Given the description of an element on the screen output the (x, y) to click on. 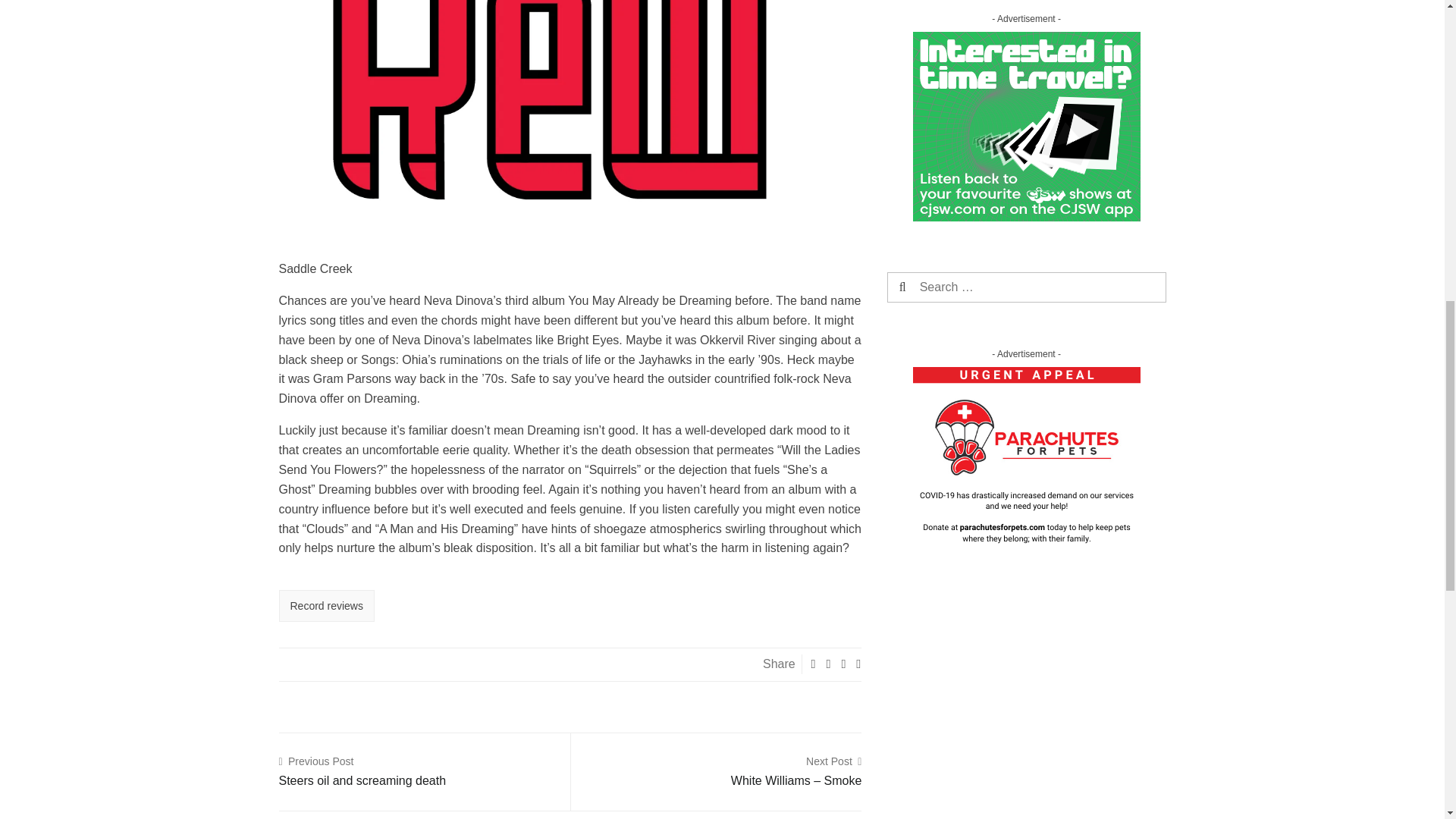
Search (362, 771)
Search (929, 287)
Record reviews (929, 287)
